Given the description of an element on the screen output the (x, y) to click on. 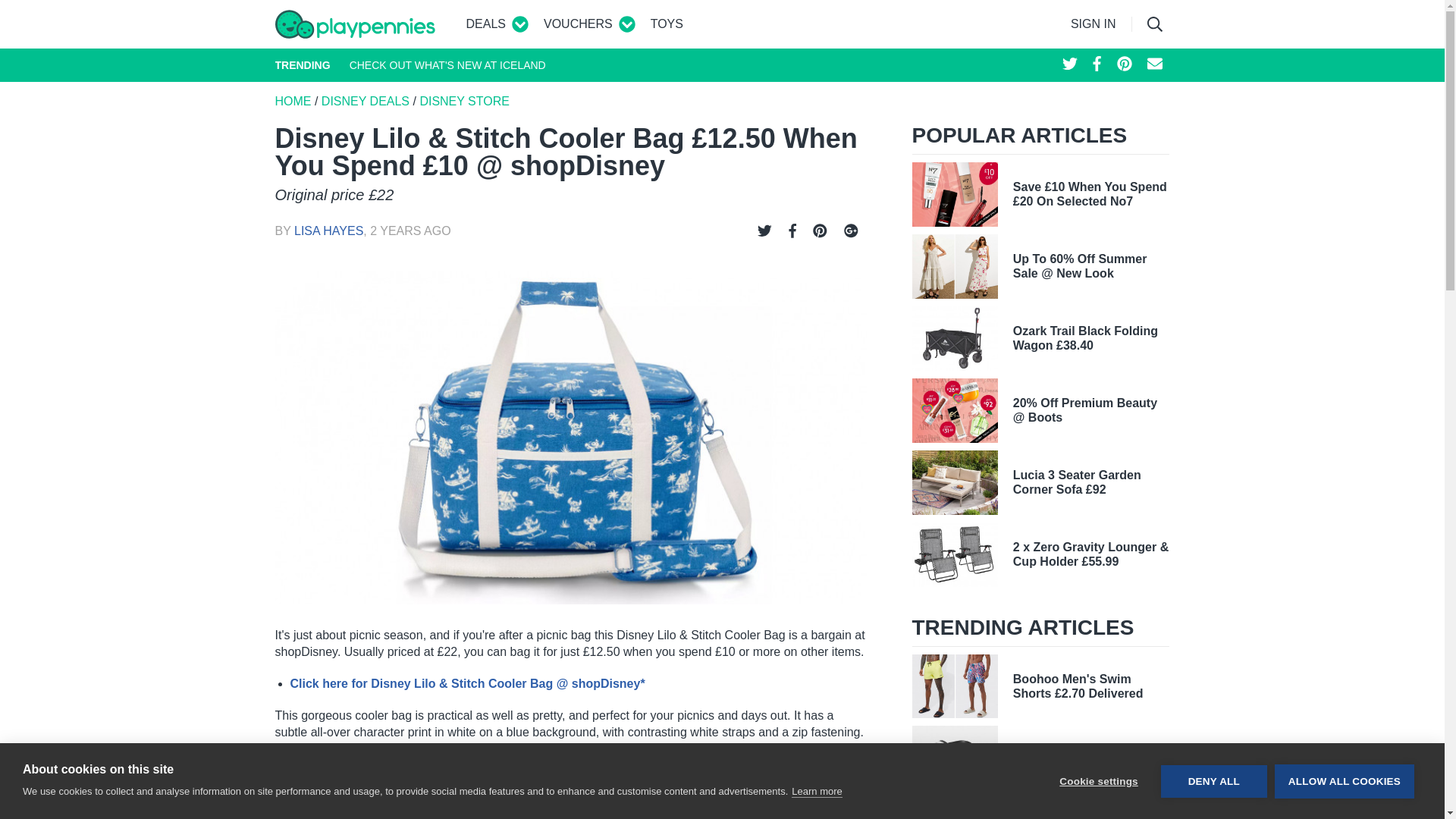
DEALS (485, 23)
